Given the description of an element on the screen output the (x, y) to click on. 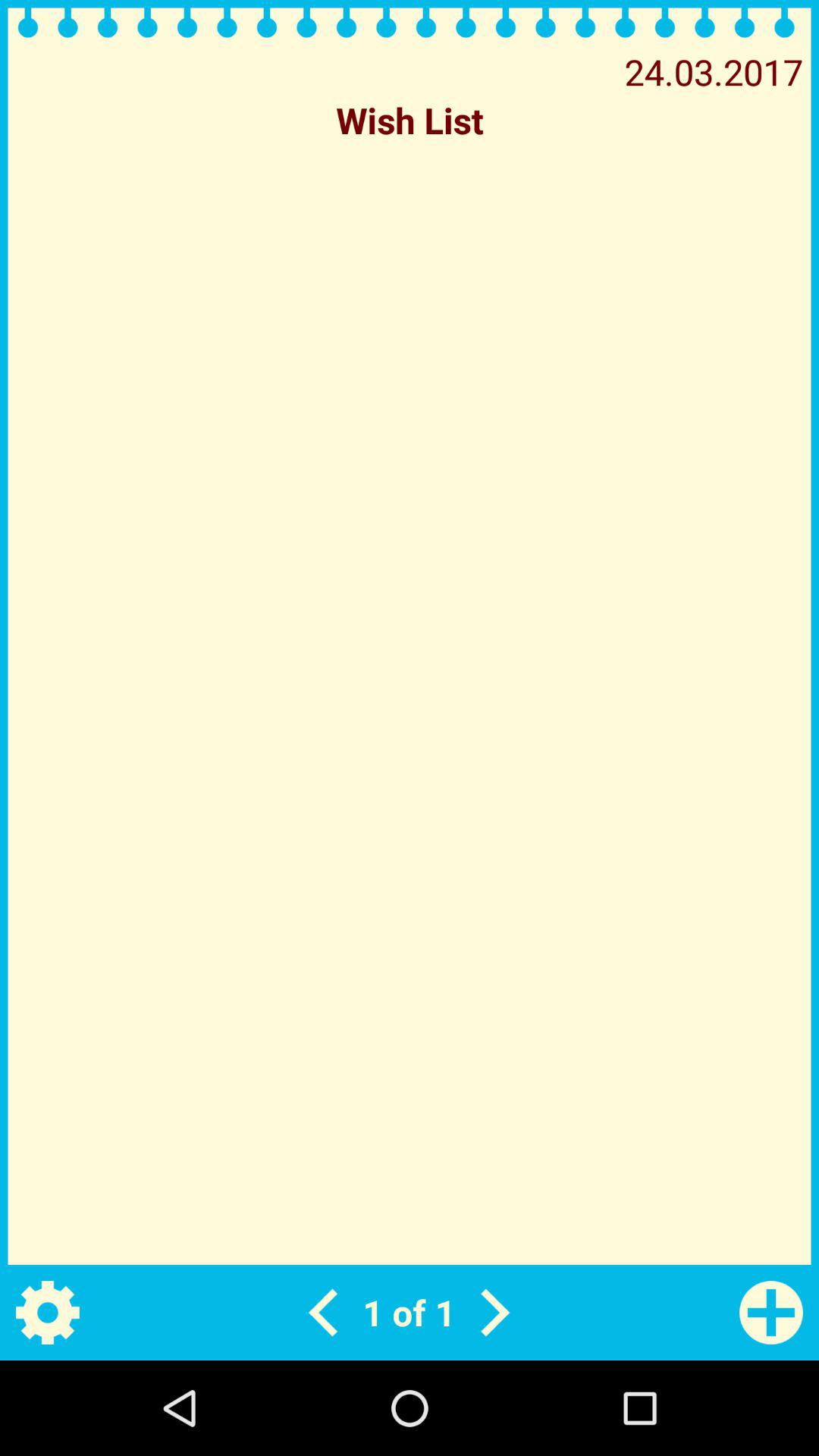
launch 1 of 1 app (408, 1312)
